Given the description of an element on the screen output the (x, y) to click on. 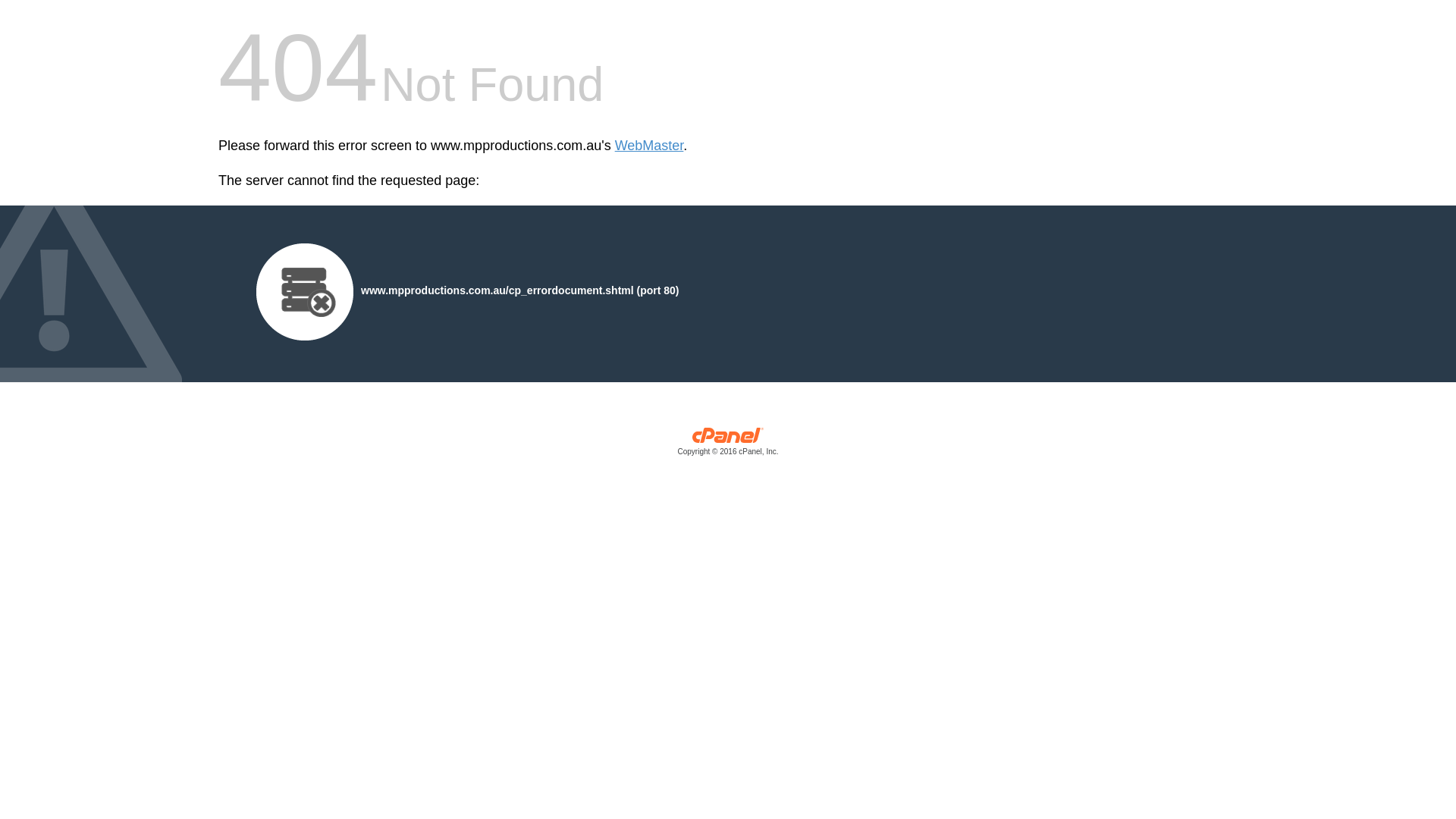
WebMaster Element type: text (649, 145)
